Given the description of an element on the screen output the (x, y) to click on. 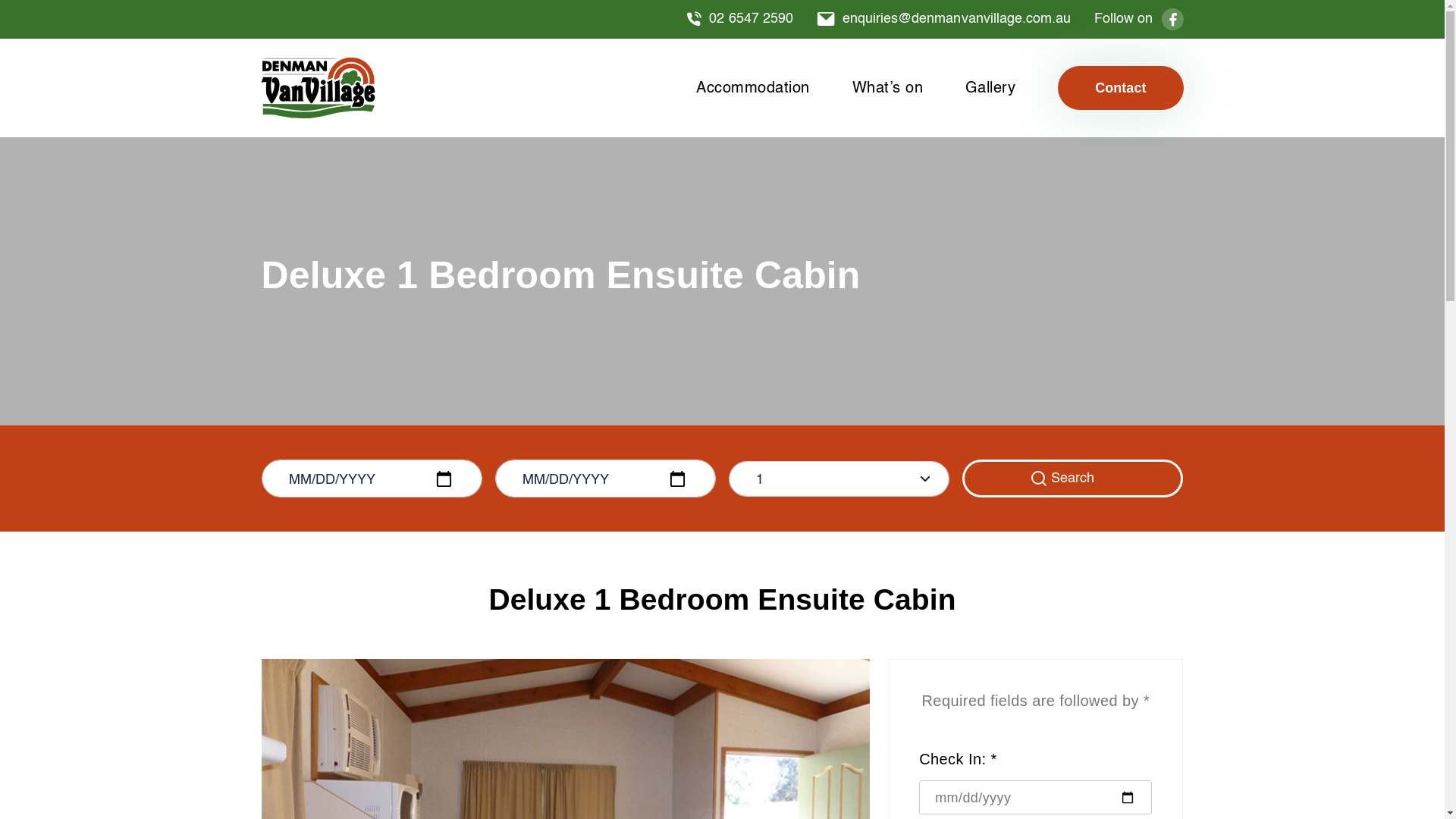
Search Element type: text (1072, 478)
02 6547 2590 Element type: text (740, 18)
Accommodation Element type: text (752, 88)
Contact Element type: text (1120, 87)
Gallery Element type: text (990, 88)
enquiries@denmanvanvillage.com.au Element type: text (943, 18)
Follow on Element type: text (1138, 18)
